Given the description of an element on the screen output the (x, y) to click on. 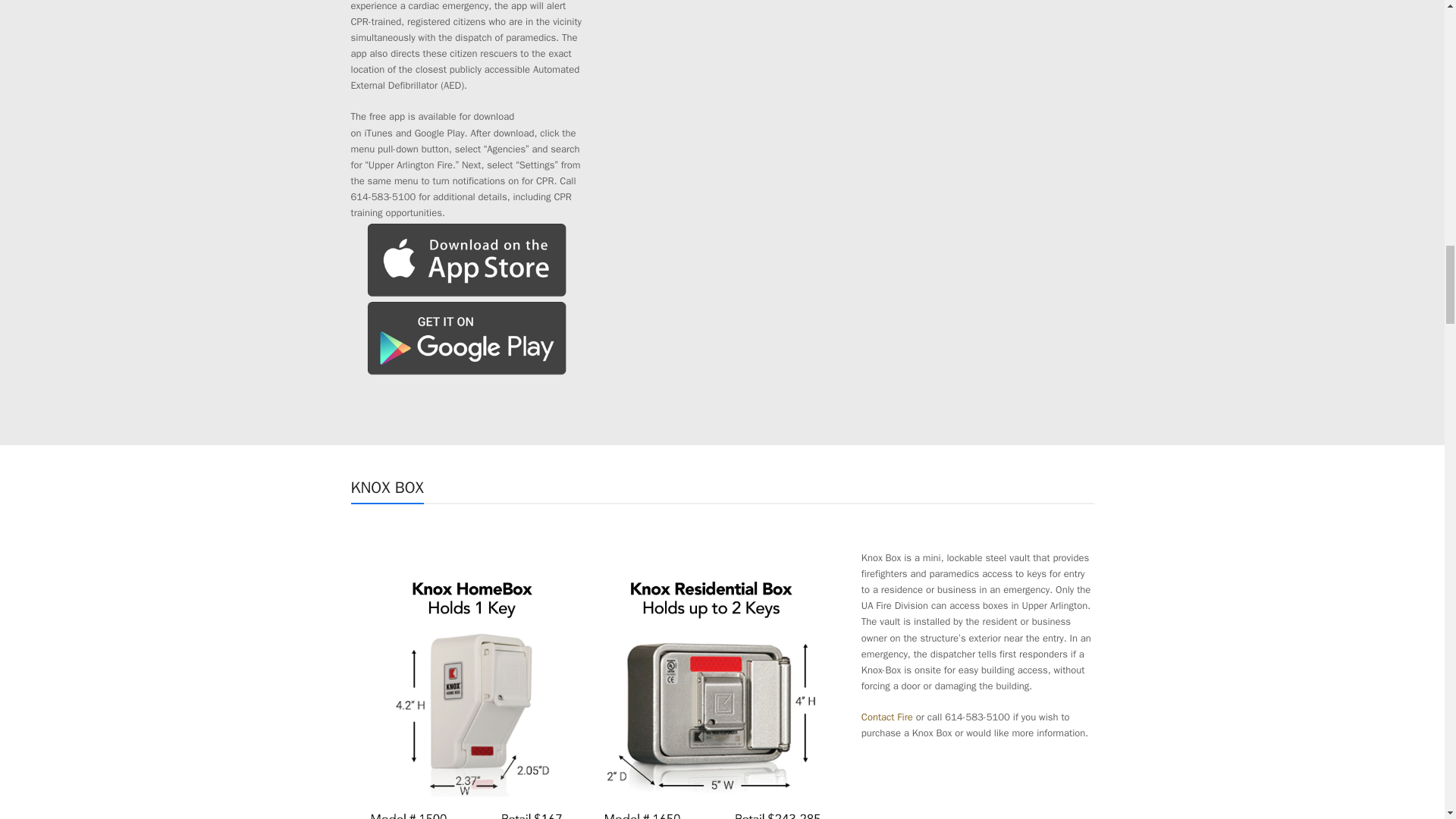
Google Play (466, 337)
Apple App Store (466, 259)
Knox Box (594, 684)
